Given the description of an element on the screen output the (x, y) to click on. 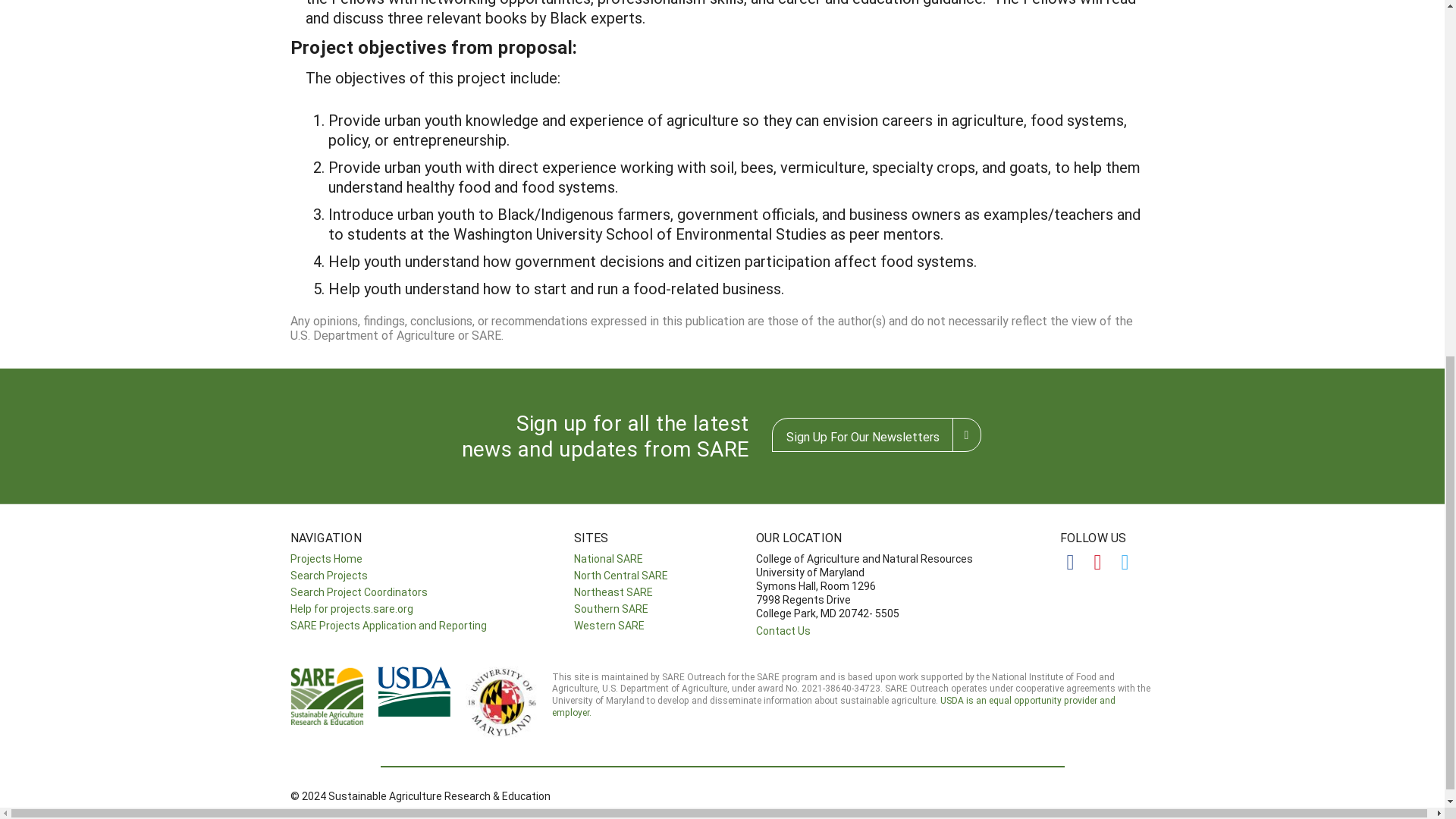
Northeast SARE (612, 591)
National SARE (607, 558)
Projects Home (325, 558)
Western SARE (608, 625)
North Central SARE (619, 575)
Help for projects.sare.org (350, 608)
SARE Projects Application and Reporting (387, 625)
Southern SARE (610, 608)
Search Project Coordinators (357, 591)
Contact Us (782, 630)
Search Projects (327, 575)
Sign Up For Our Newsletters (862, 434)
